Given the description of an element on the screen output the (x, y) to click on. 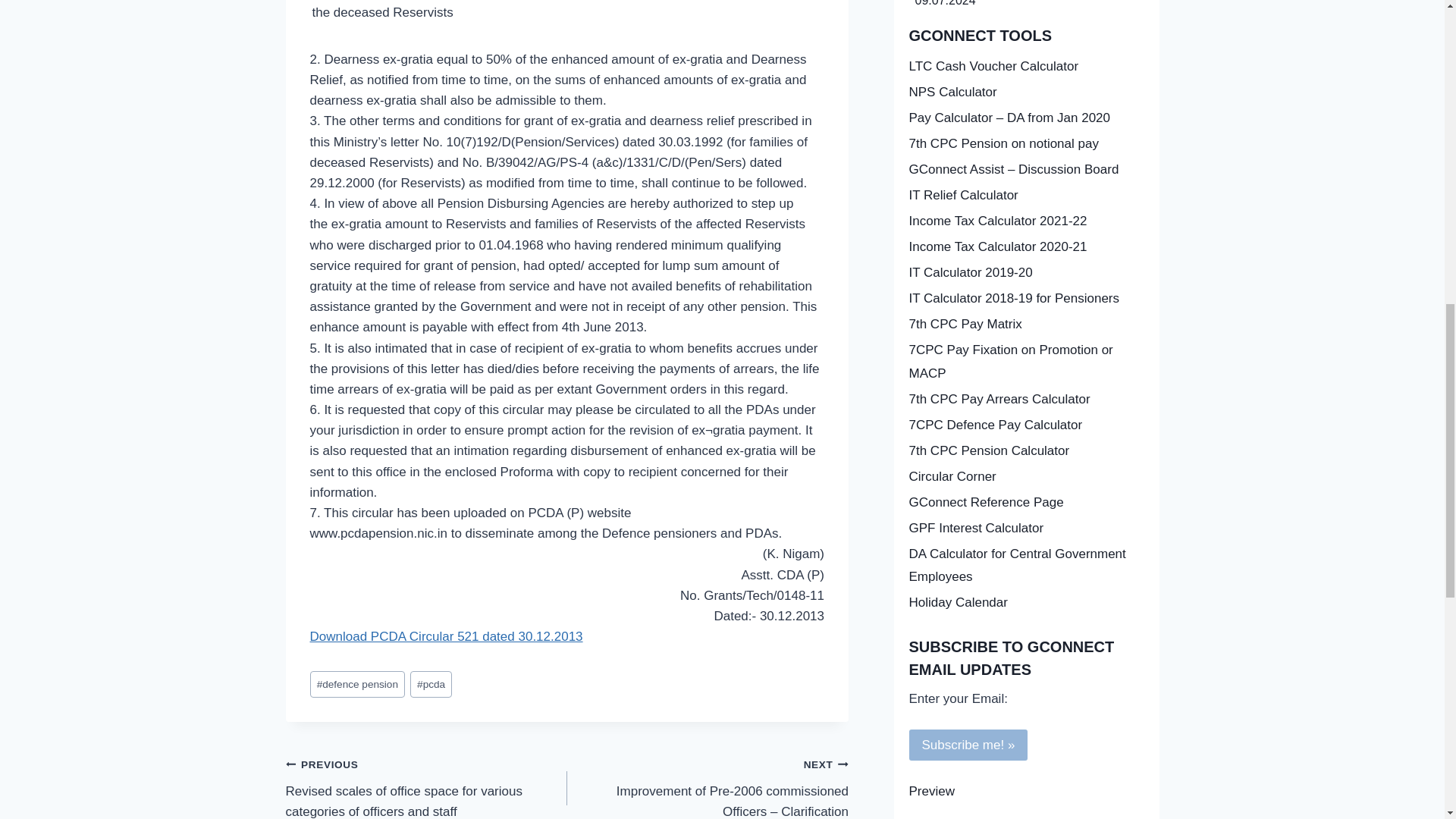
defence pension (356, 683)
pcda (430, 683)
Download PCDA Circular 521 dated 30.12.2013 (445, 636)
LTC Cash Voucher Calculator (1025, 67)
7th Pay Commission Pay and allowances arrears calculator (1025, 399)
7th Pay Commission Pension on the basis of Notional Pay (1025, 144)
NPS Calculator (1025, 93)
DA Calculator for Central Government Employees (1025, 565)
7th CPC Pension on notional pay (1025, 144)
GConnect Income Tax Calculator 2018-19 (1025, 273)
